Given the description of an element on the screen output the (x, y) to click on. 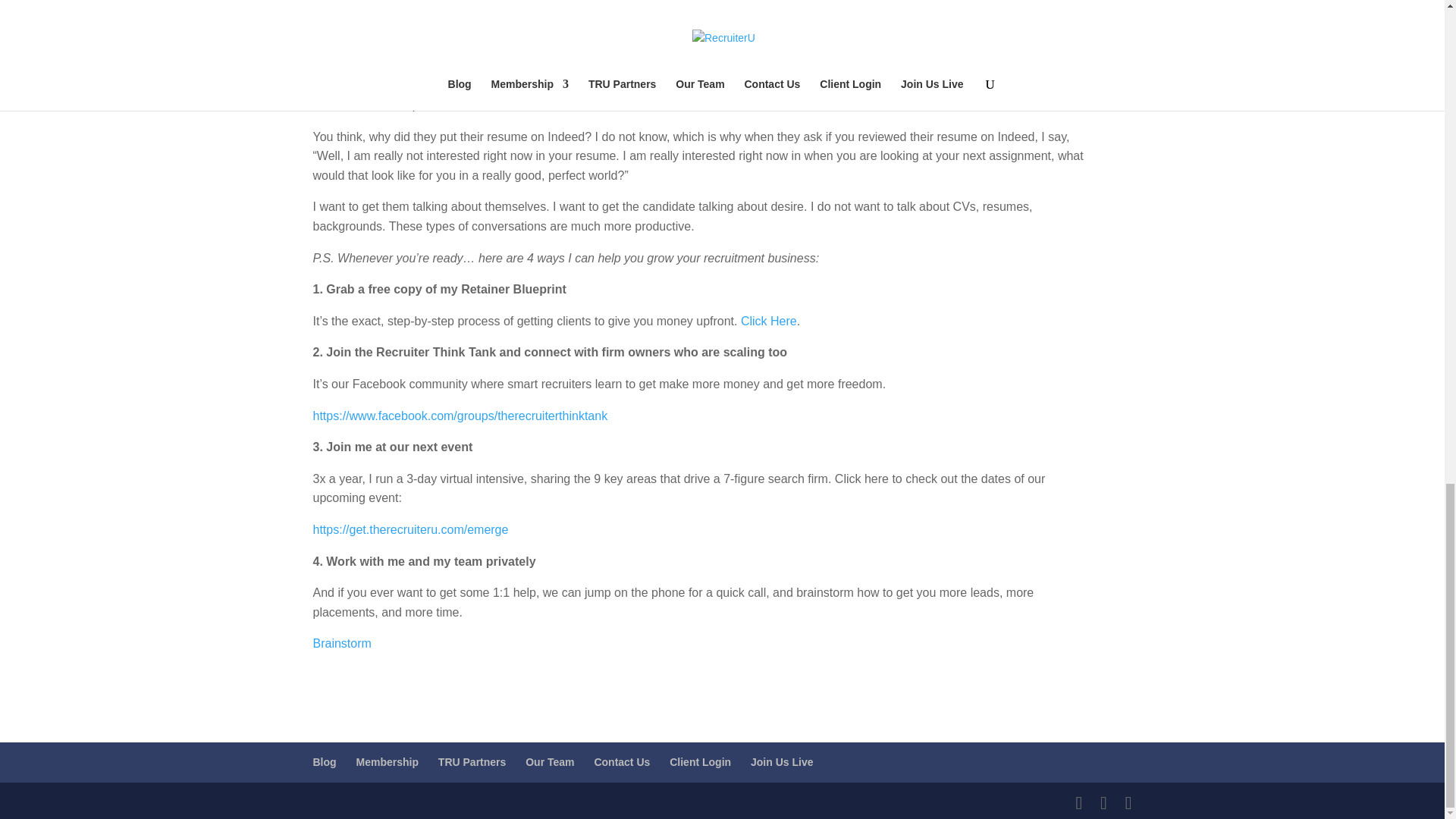
Brainstorm (342, 643)
Click Here (768, 320)
